Given the description of an element on the screen output the (x, y) to click on. 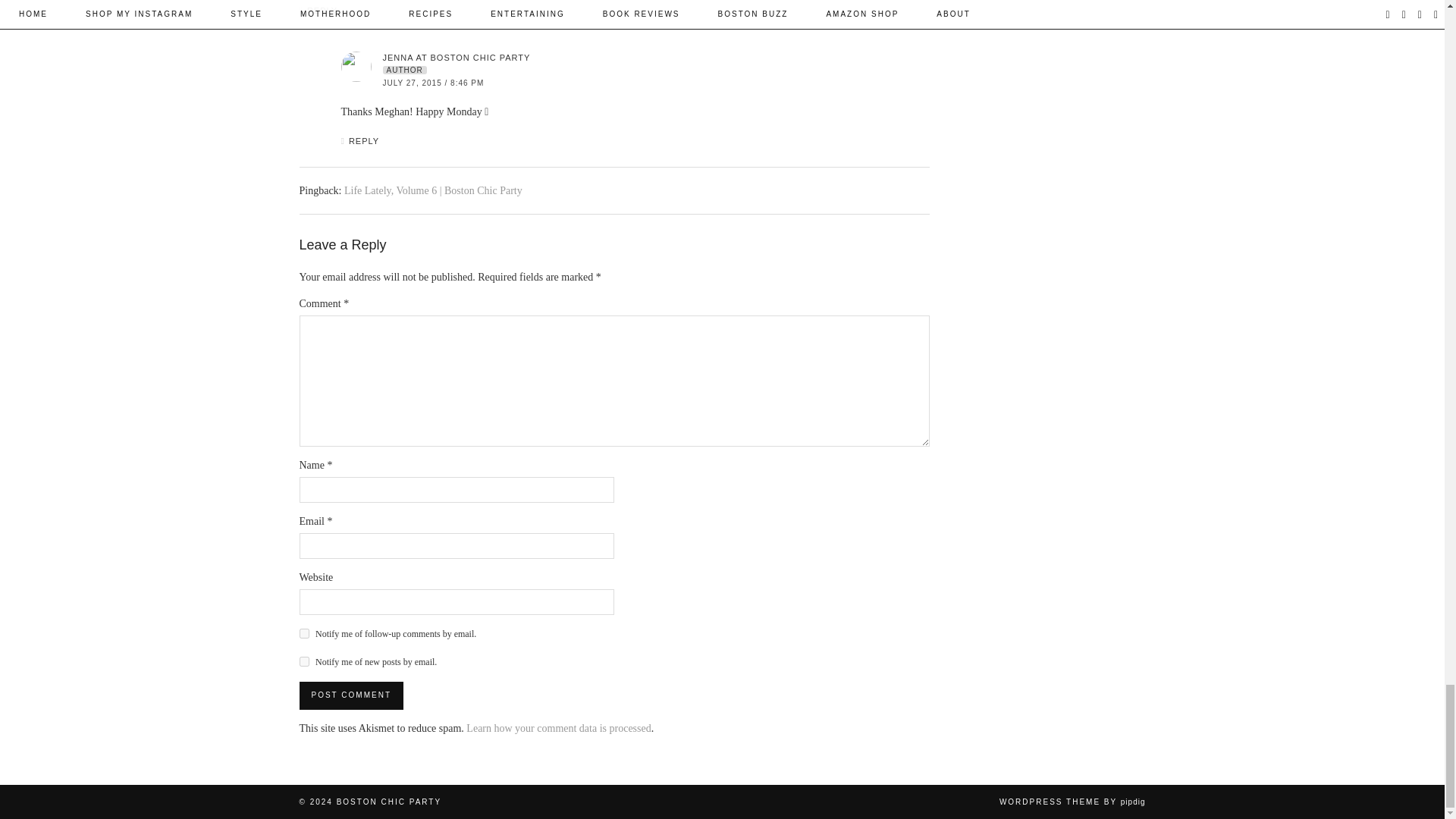
subscribe (303, 633)
subscribe (303, 661)
Post Comment (350, 695)
